Given the description of an element on the screen output the (x, y) to click on. 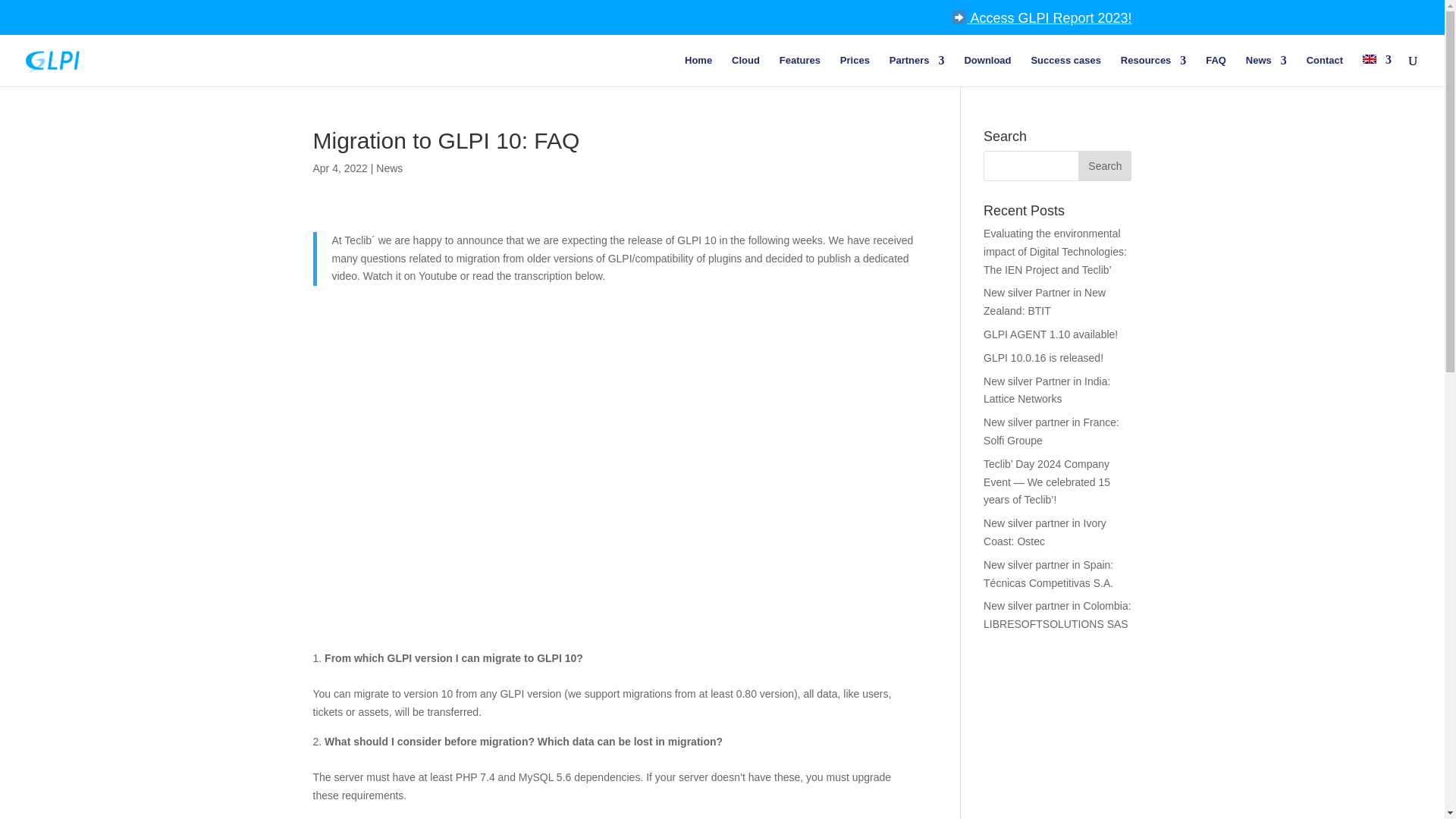
Access GLPI Report 2023! (1042, 23)
Download (986, 70)
Success cases (1065, 70)
FAQ (1215, 70)
Features (799, 70)
Contact (1324, 70)
Cloud (746, 70)
Home (697, 70)
Prices (854, 70)
Partners (916, 70)
Search (1104, 165)
Resources (1153, 70)
News (1266, 70)
